Given the description of an element on the screen output the (x, y) to click on. 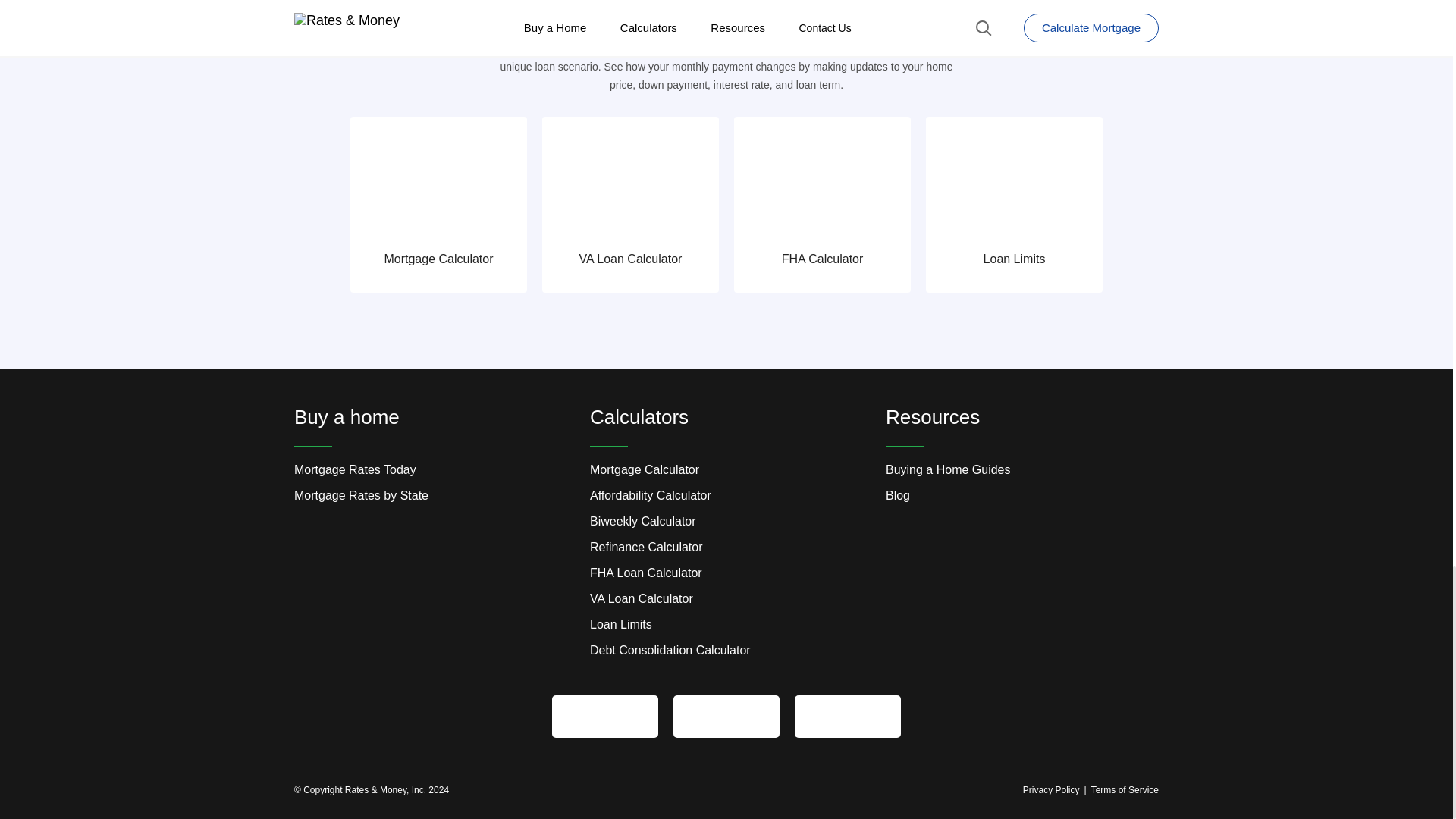
Mortgage Calculator (438, 204)
Mortgage Rates by State (361, 495)
Loan Limits (1014, 204)
Mortgage Rates Today (355, 469)
FHA Calculator (822, 204)
VA Loan Calculator (630, 204)
